Given the description of an element on the screen output the (x, y) to click on. 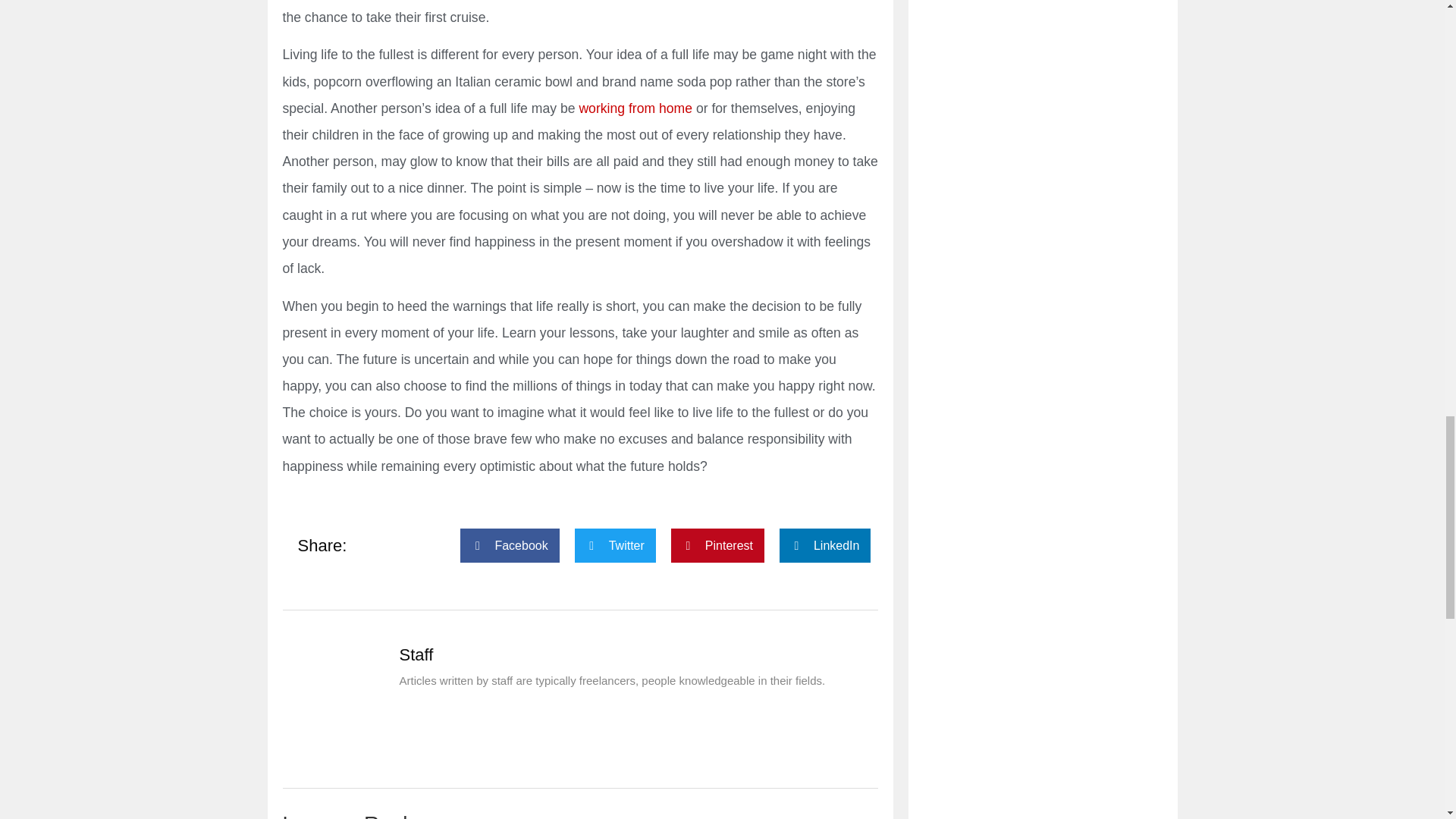
Working From Home (635, 108)
